Given the description of an element on the screen output the (x, y) to click on. 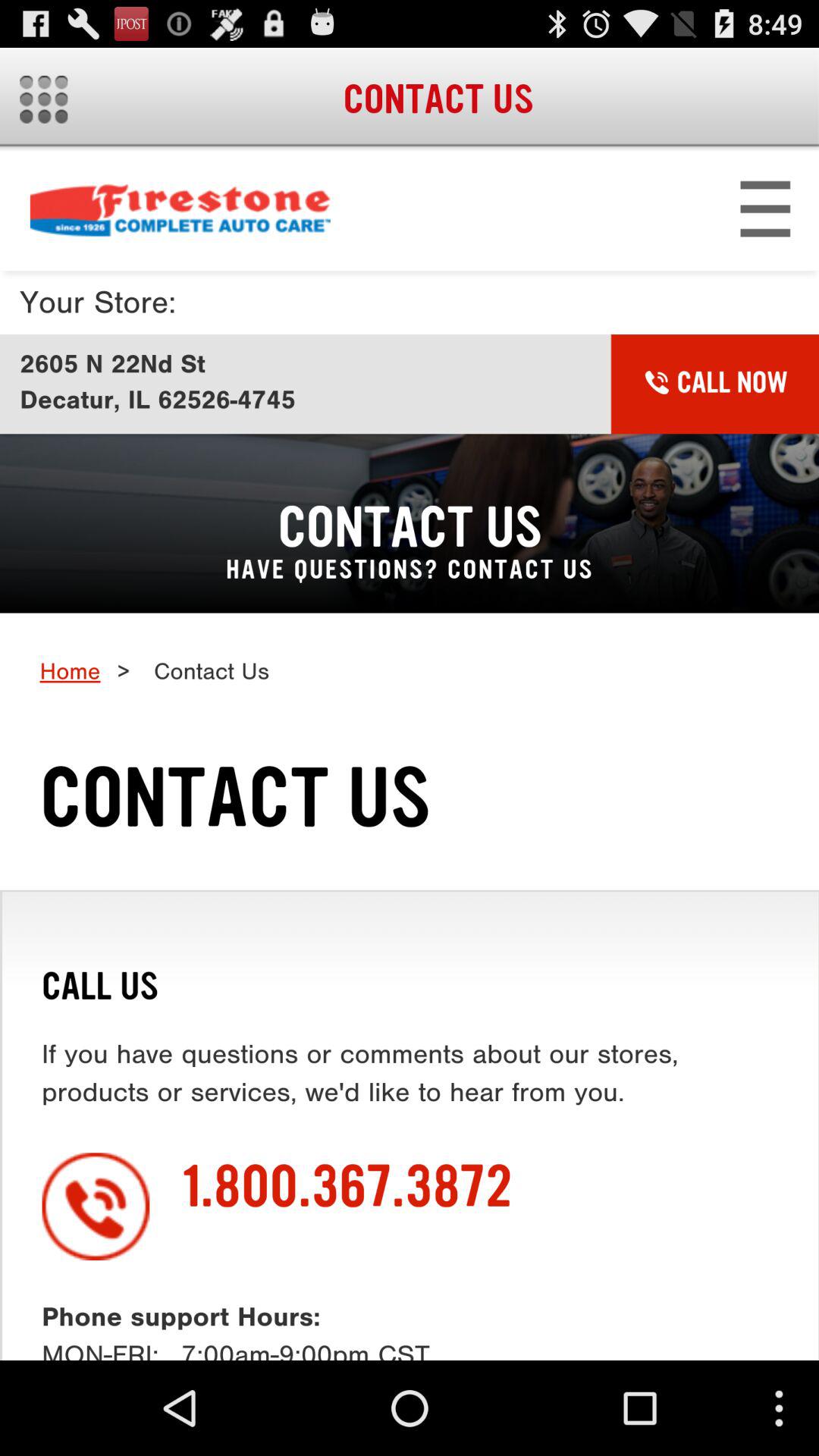
toggle main menu (43, 99)
